Given the description of an element on the screen output the (x, y) to click on. 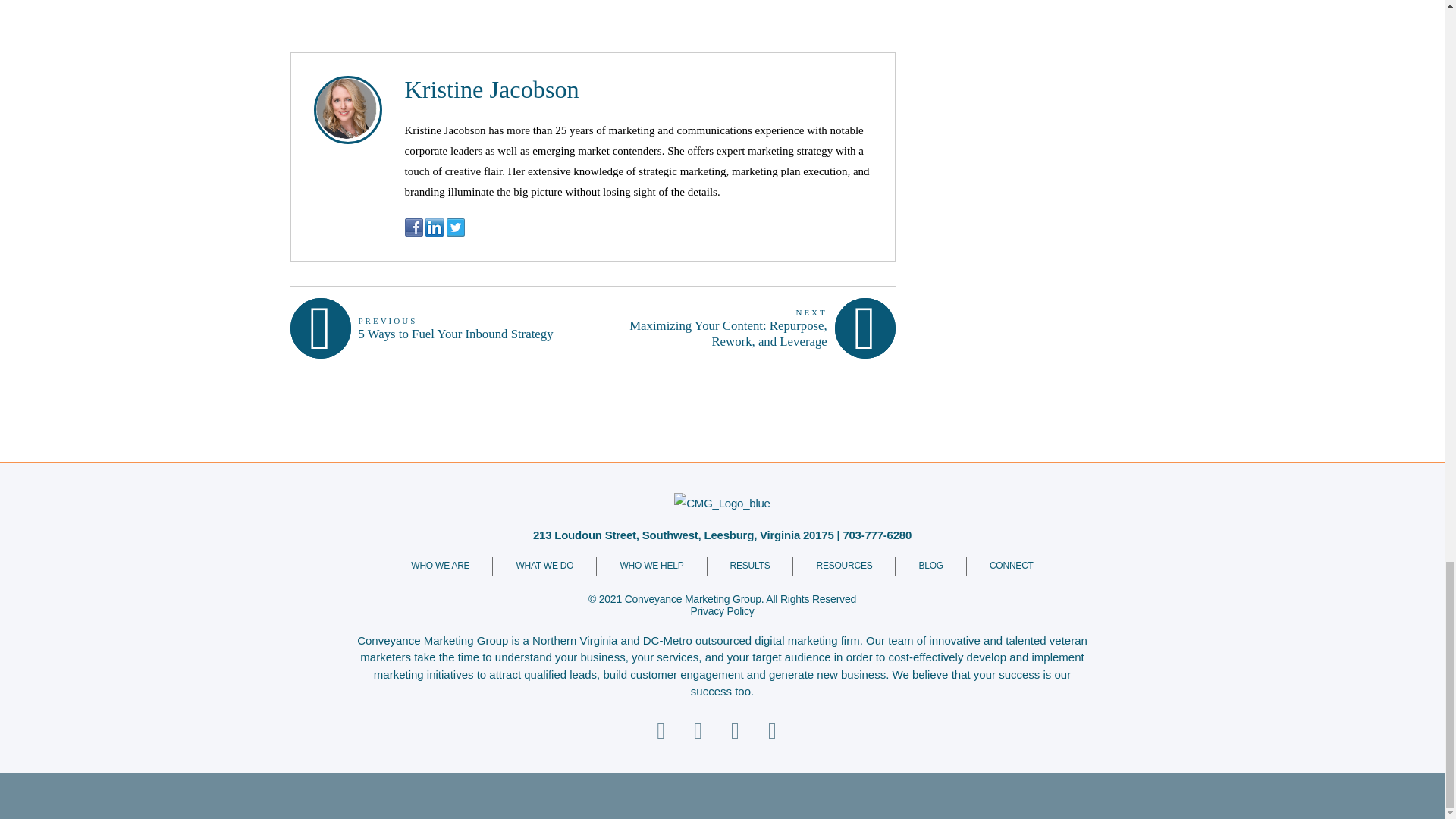
Twitter (424, 328)
Kristine Jacobson (455, 227)
LinkedIn (491, 89)
Facebook (434, 227)
